Given the description of an element on the screen output the (x, y) to click on. 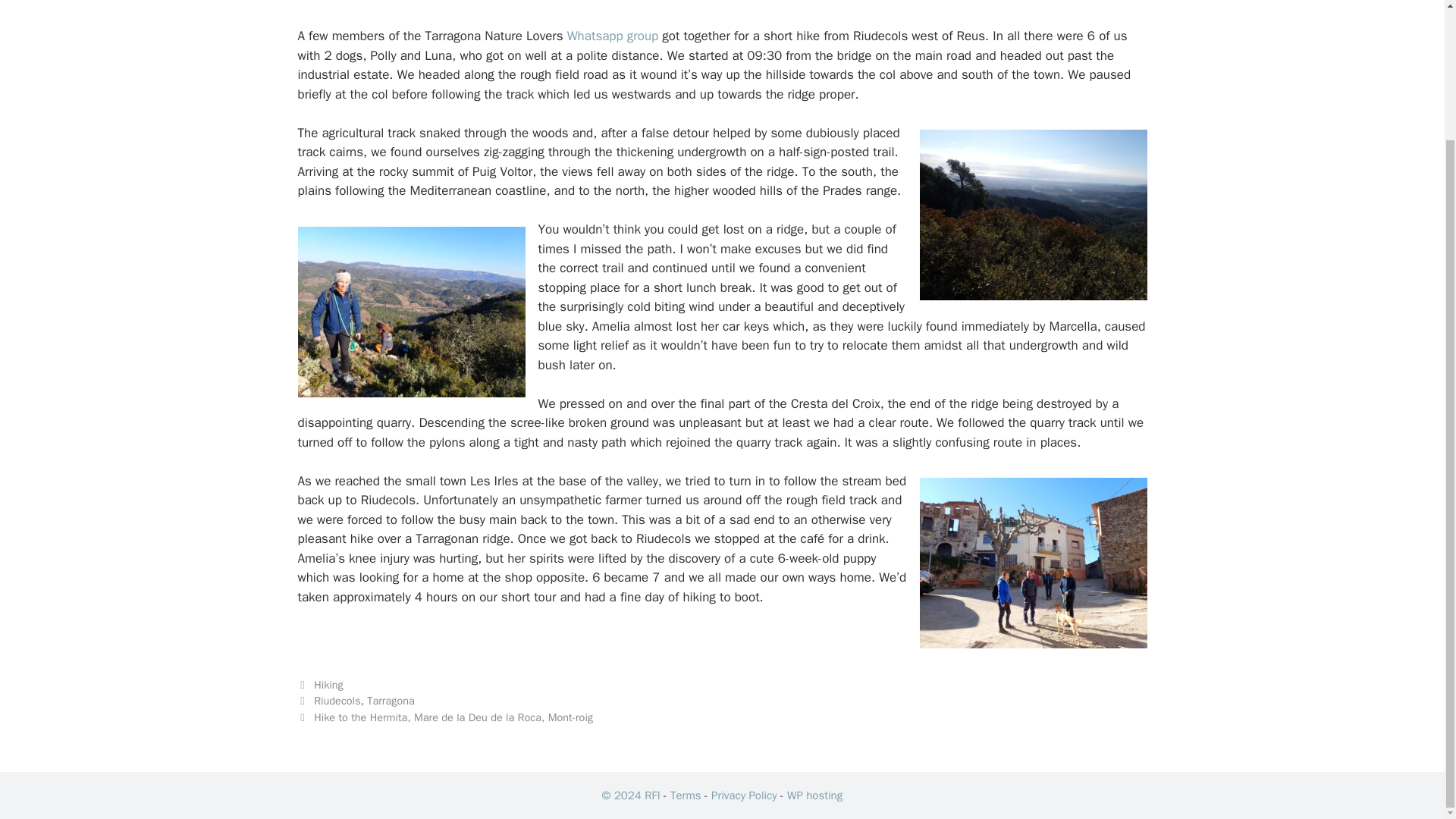
Hiking (328, 684)
Tarragona (390, 700)
Hike to the Hermita, Mare de la Deu de la Roca, Mont-roig (453, 716)
WP hosting (815, 795)
Riudecols (336, 700)
Privacy Policy (744, 795)
Terms (684, 795)
Whatsapp group (611, 35)
